Given the description of an element on the screen output the (x, y) to click on. 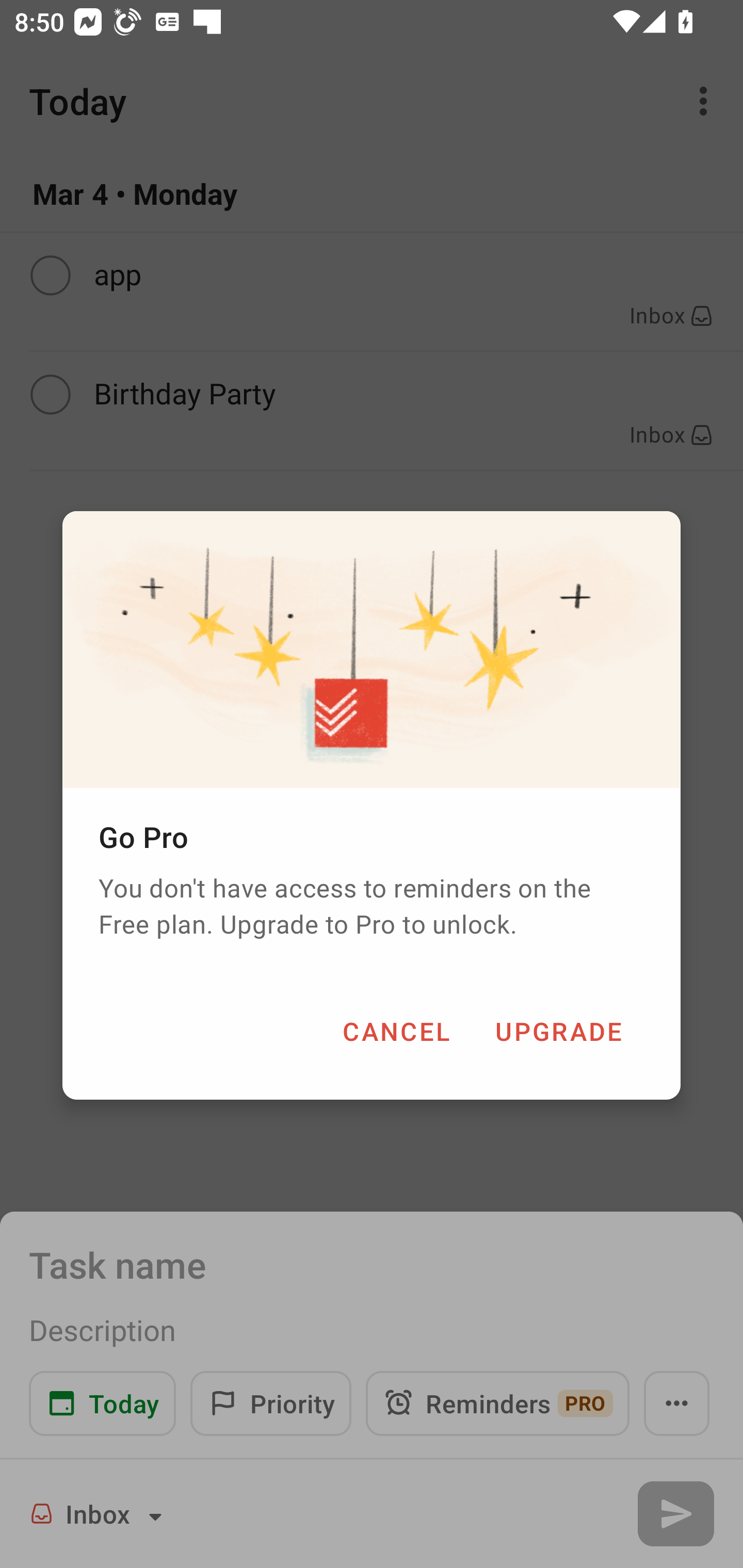
CANCEL (395, 1030)
UPGRADE (558, 1030)
